Given the description of an element on the screen output the (x, y) to click on. 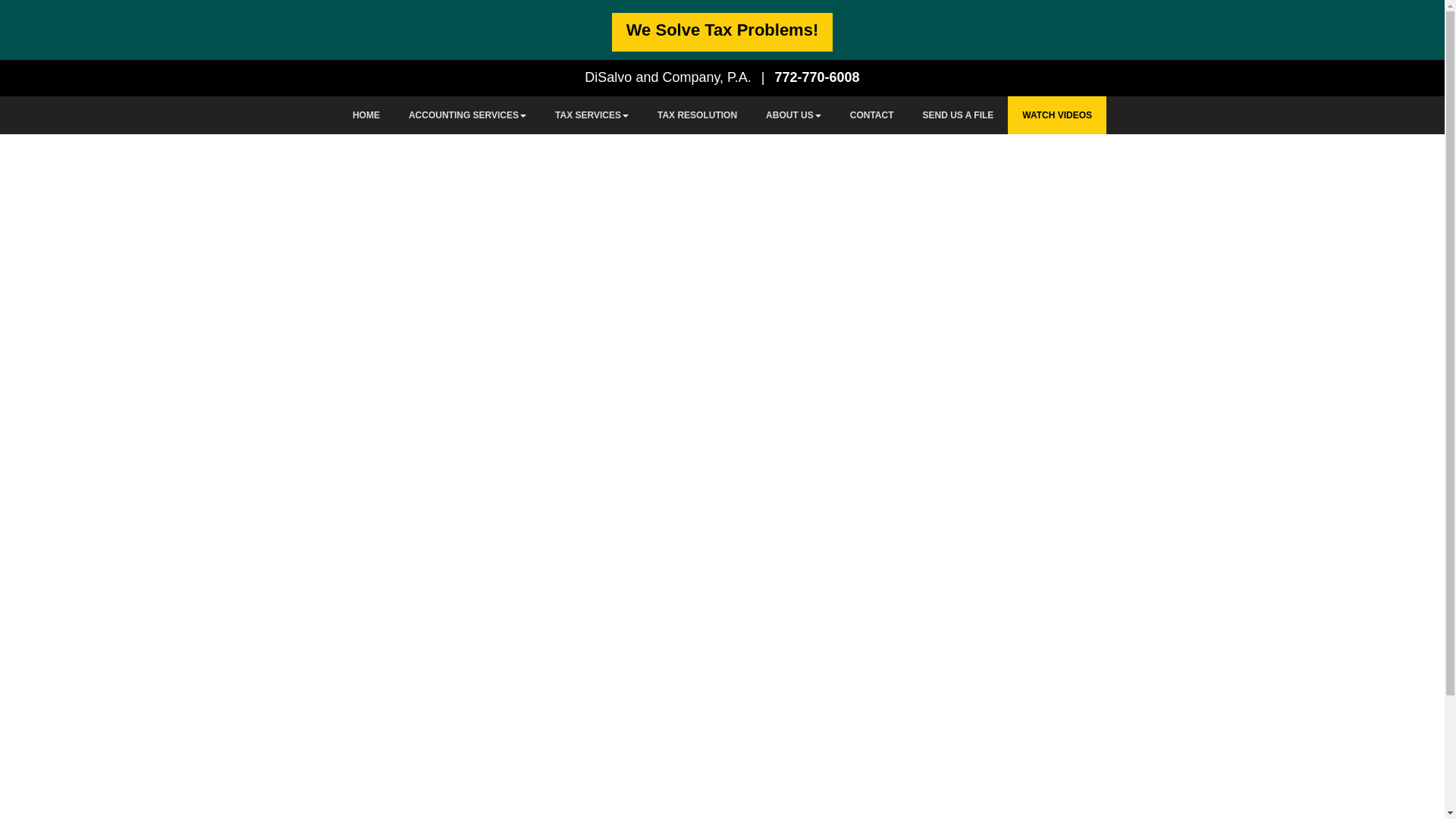
ABOUT US (793, 115)
TAX RESOLUTION (697, 115)
SEND US A FILE (958, 115)
We Solve Tax Problems! (721, 31)
ACCOUNTING SERVICES (467, 115)
CONTACT (871, 115)
HOME (365, 115)
TAX SERVICES (591, 115)
WATCH VIDEOS (1056, 115)
772-770-6008 (817, 77)
